Given the description of an element on the screen output the (x, y) to click on. 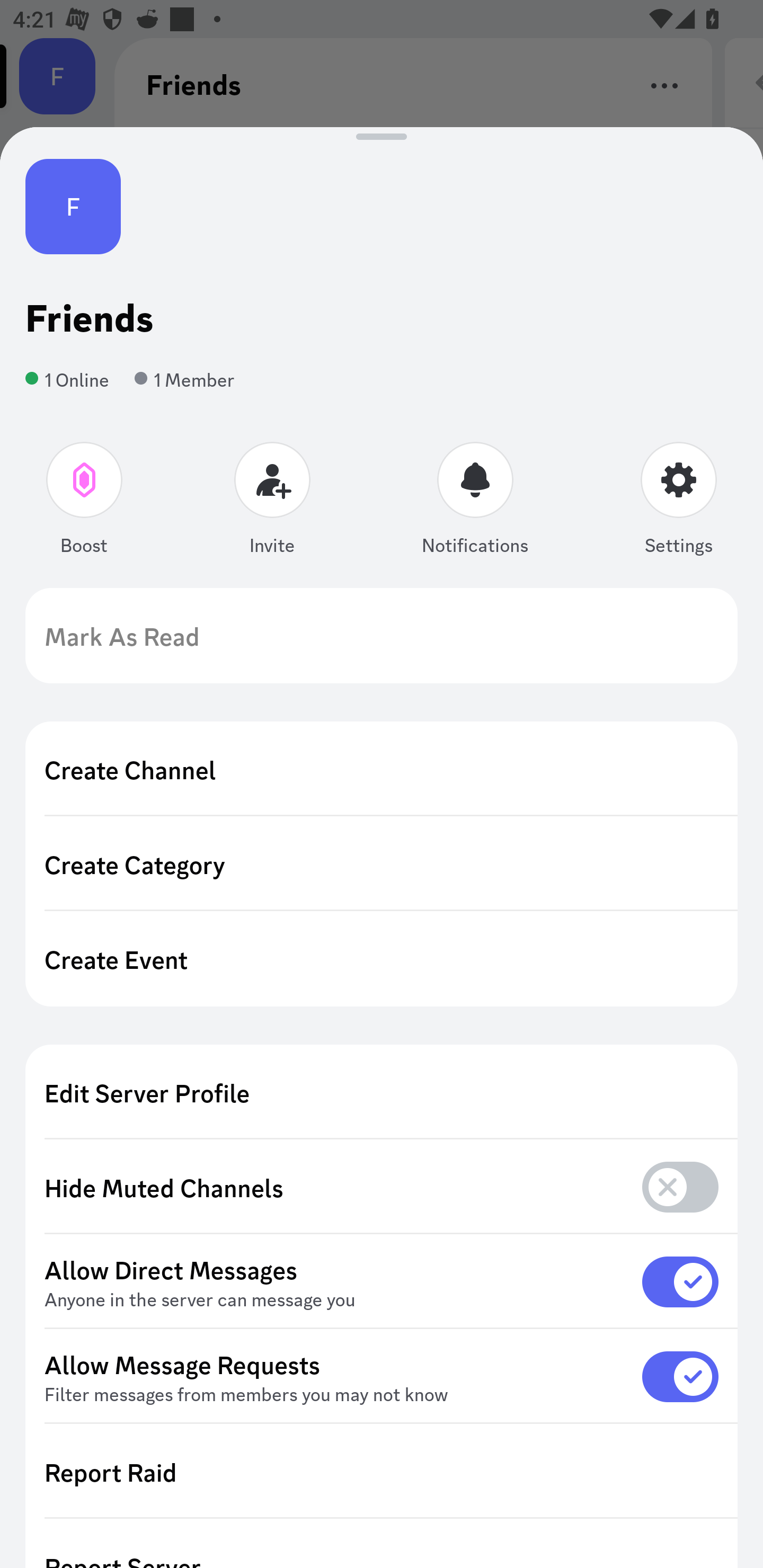
Boost (84, 502)
Invite (272, 502)
Notifications (475, 502)
Settings (678, 502)
Mark As Read (381, 635)
Create Channel (381, 768)
Create Category (381, 863)
Create Event (381, 958)
Edit Server Profile (381, 1091)
off Hide Muted Channels,  Hide Muted Channels off (381, 1187)
off (680, 1186)
on (680, 1281)
on (680, 1376)
Report Raid (381, 1471)
